Given the description of an element on the screen output the (x, y) to click on. 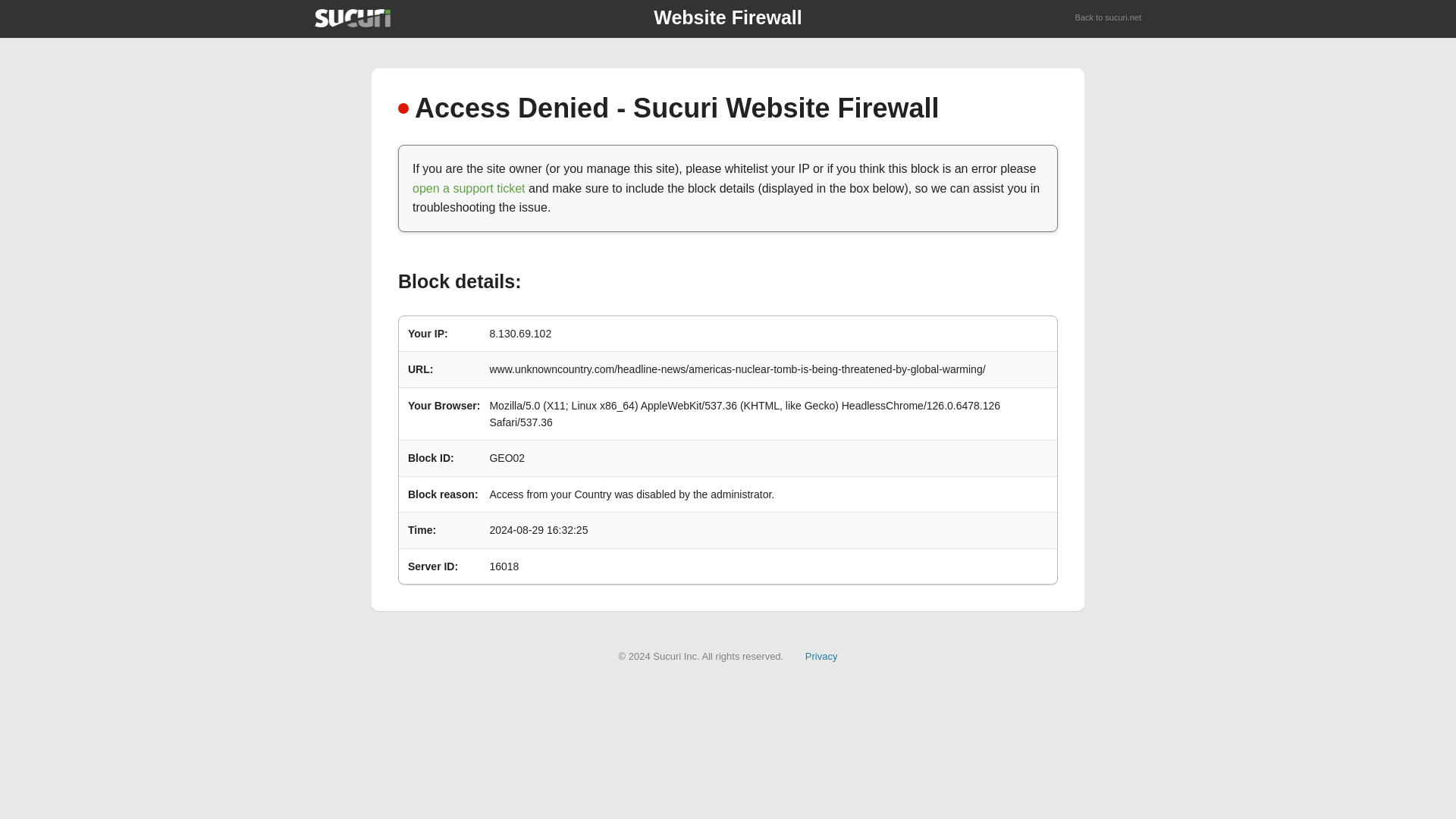
Back to sucuri.net (1108, 18)
open a support ticket (468, 187)
Privacy (821, 655)
